Given the description of an element on the screen output the (x, y) to click on. 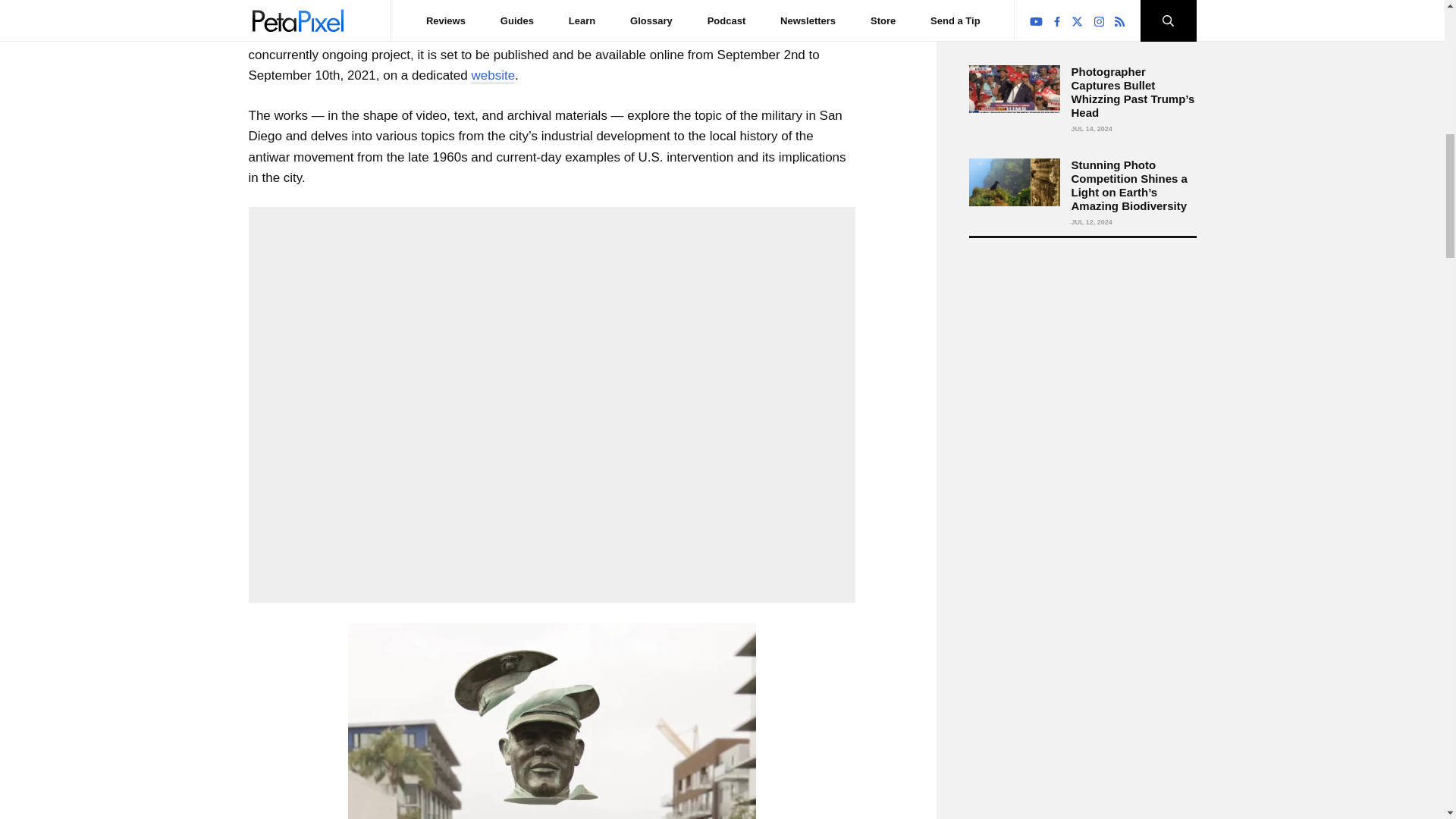
website (492, 75)
Evan Apodaca (770, 14)
